Given the description of an element on the screen output the (x, y) to click on. 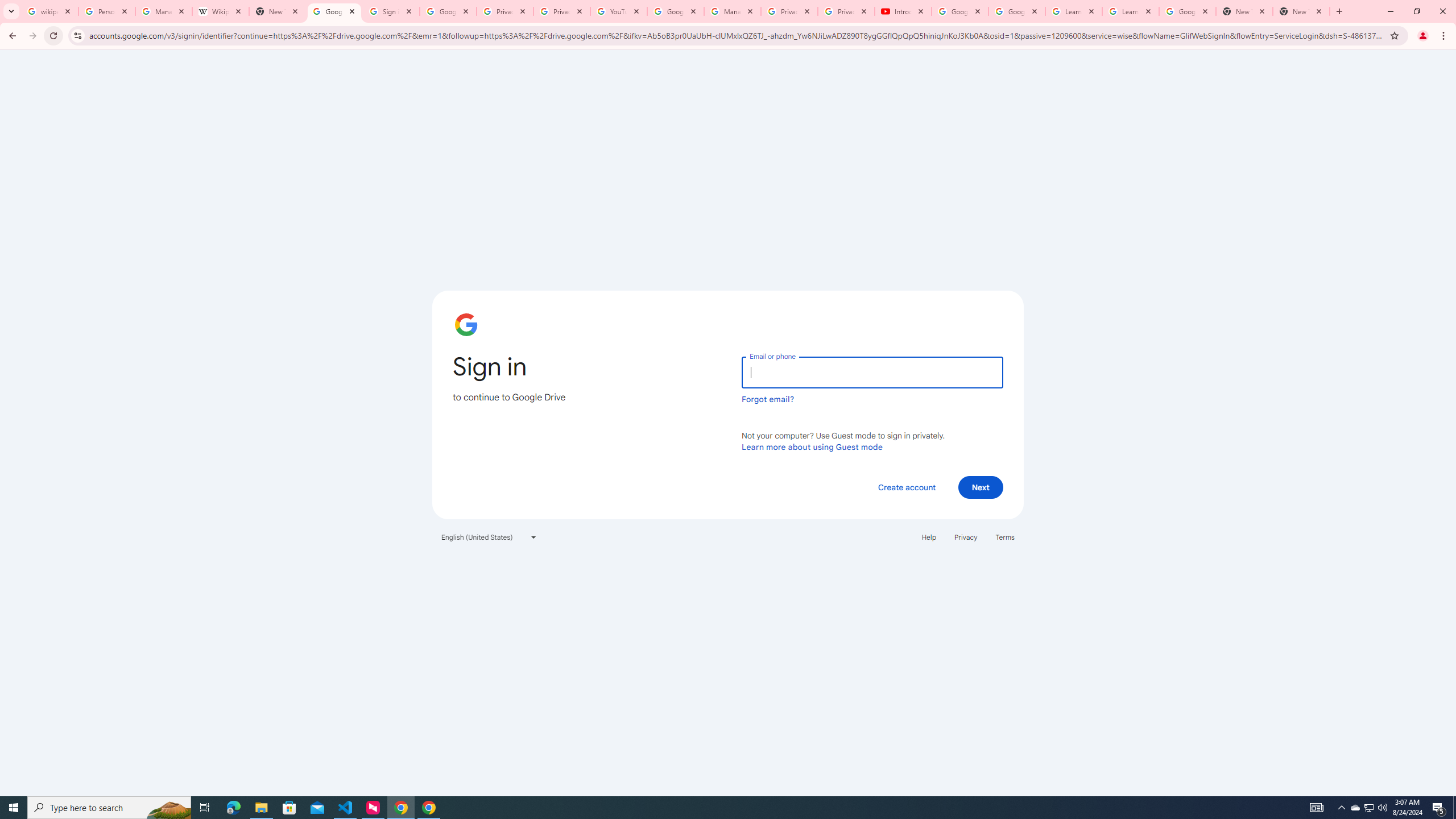
Google Account Help (675, 11)
Google Account Help (959, 11)
Email or phone (871, 372)
Sign in - Google Accounts (391, 11)
Introduction | Google Privacy Policy - YouTube (902, 11)
